Given the description of an element on the screen output the (x, y) to click on. 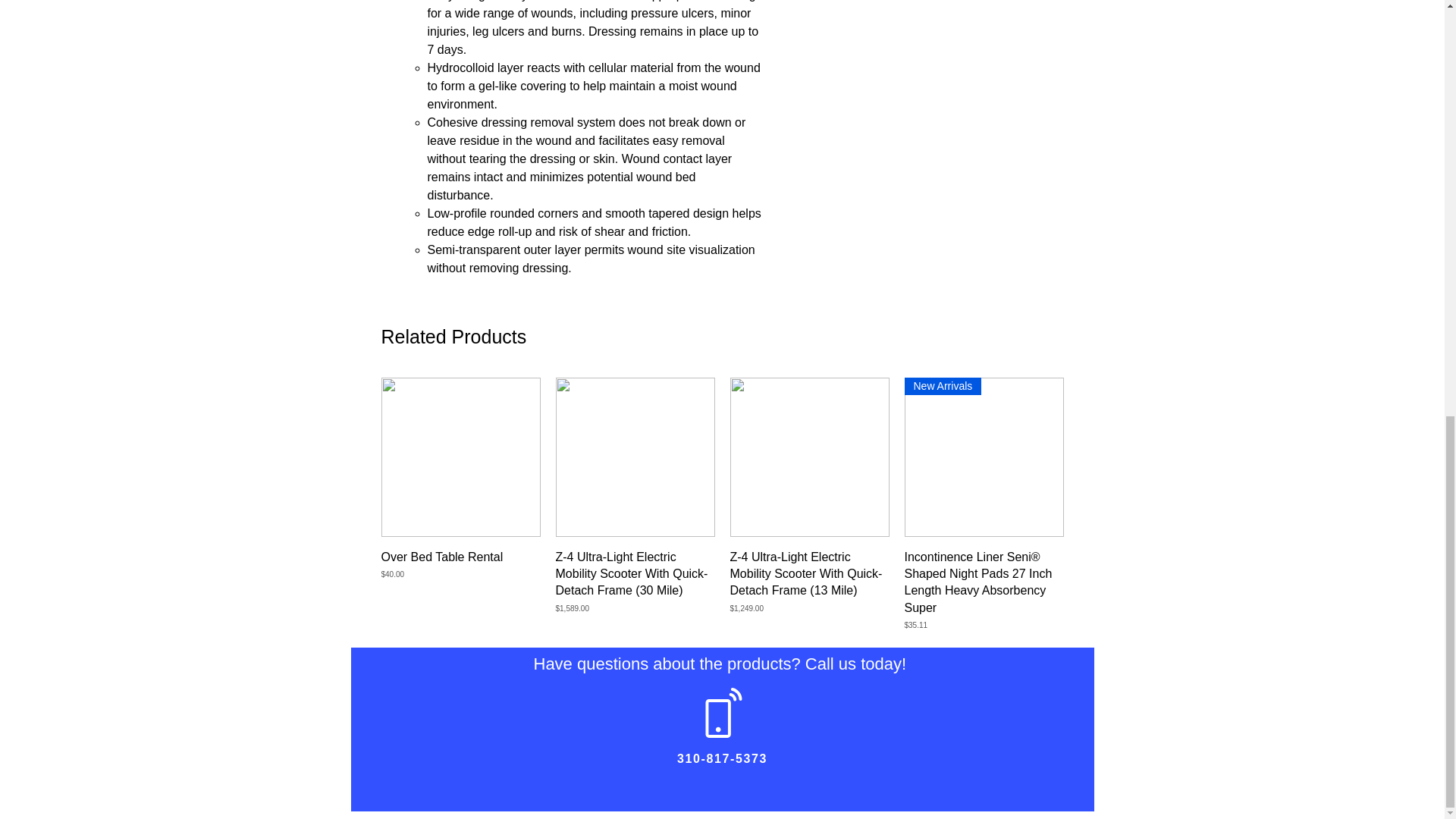
New Arrivals (983, 457)
